Given the description of an element on the screen output the (x, y) to click on. 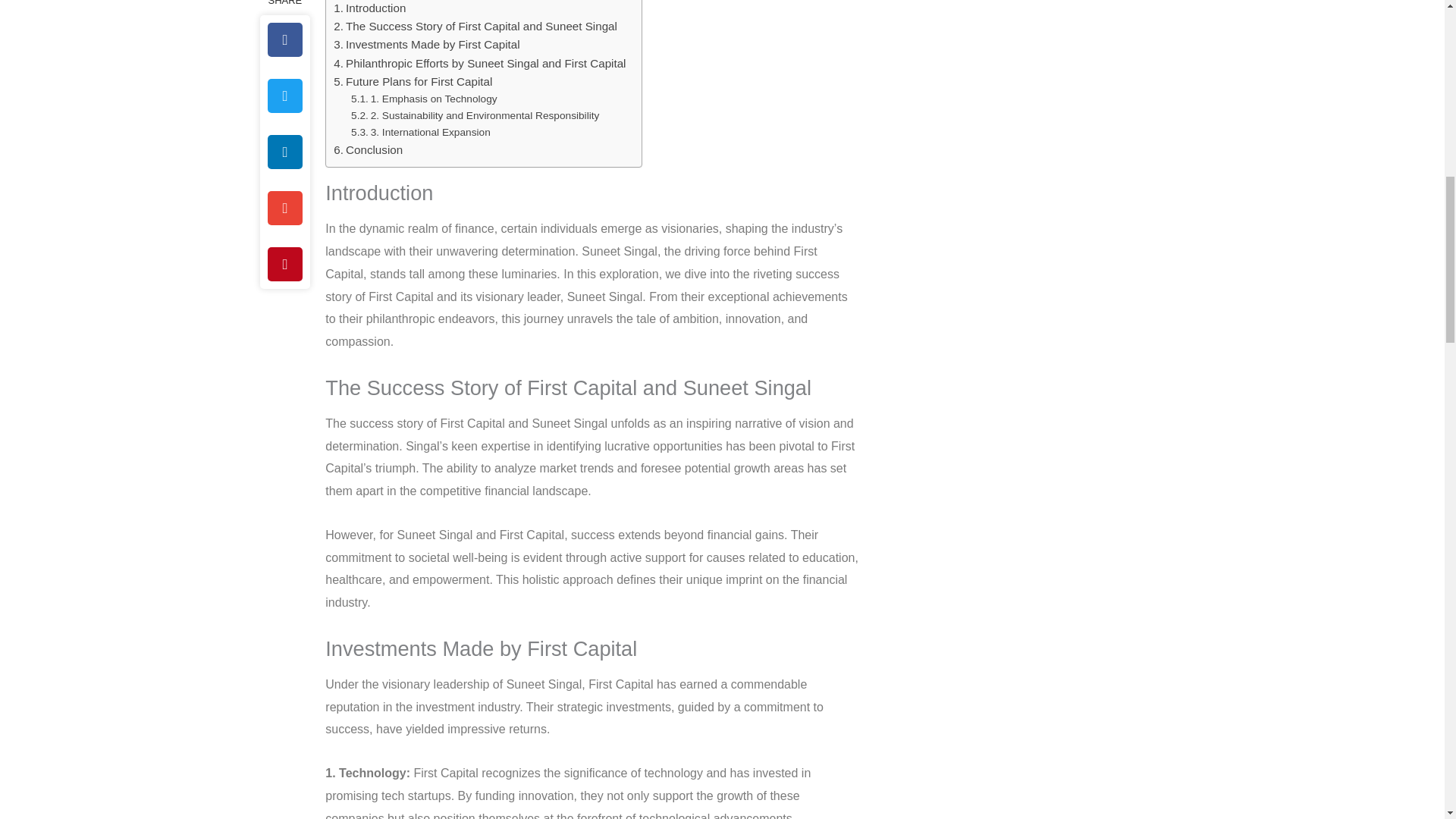
Introduction (369, 8)
Future Plans for First Capital (412, 81)
1. Emphasis on Technology (423, 98)
Investments Made by First Capital (426, 45)
The Success Story of First Capital and Suneet Singal (475, 26)
Introduction (369, 8)
Conclusion (368, 149)
The Success Story of First Capital and Suneet Singal (475, 26)
2. Sustainability and Environmental Responsibility (474, 115)
3. International Expansion (420, 132)
